Given the description of an element on the screen output the (x, y) to click on. 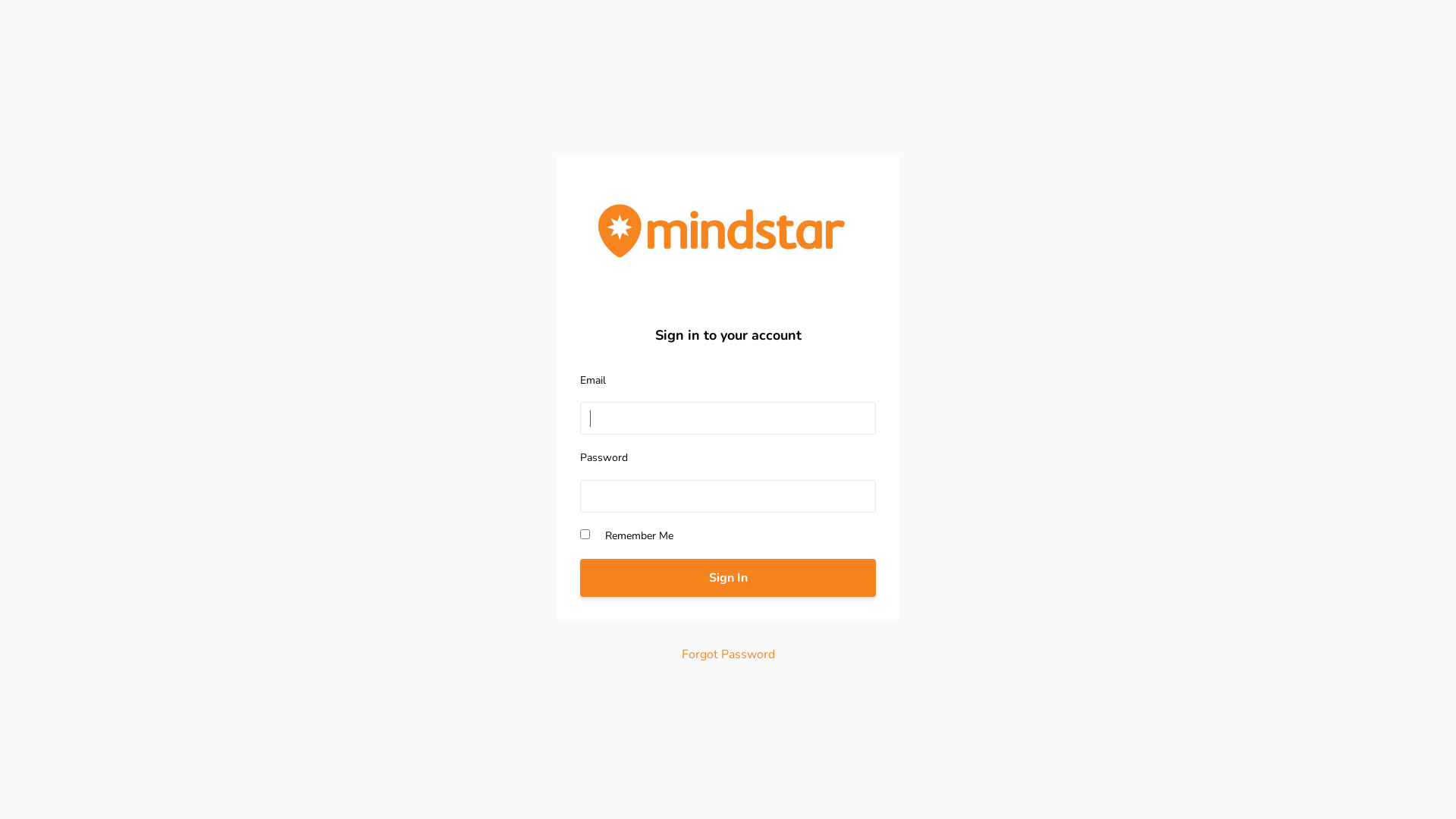
Sign In Element type: text (727, 577)
Forgot Password Element type: text (727, 654)
